Given the description of an element on the screen output the (x, y) to click on. 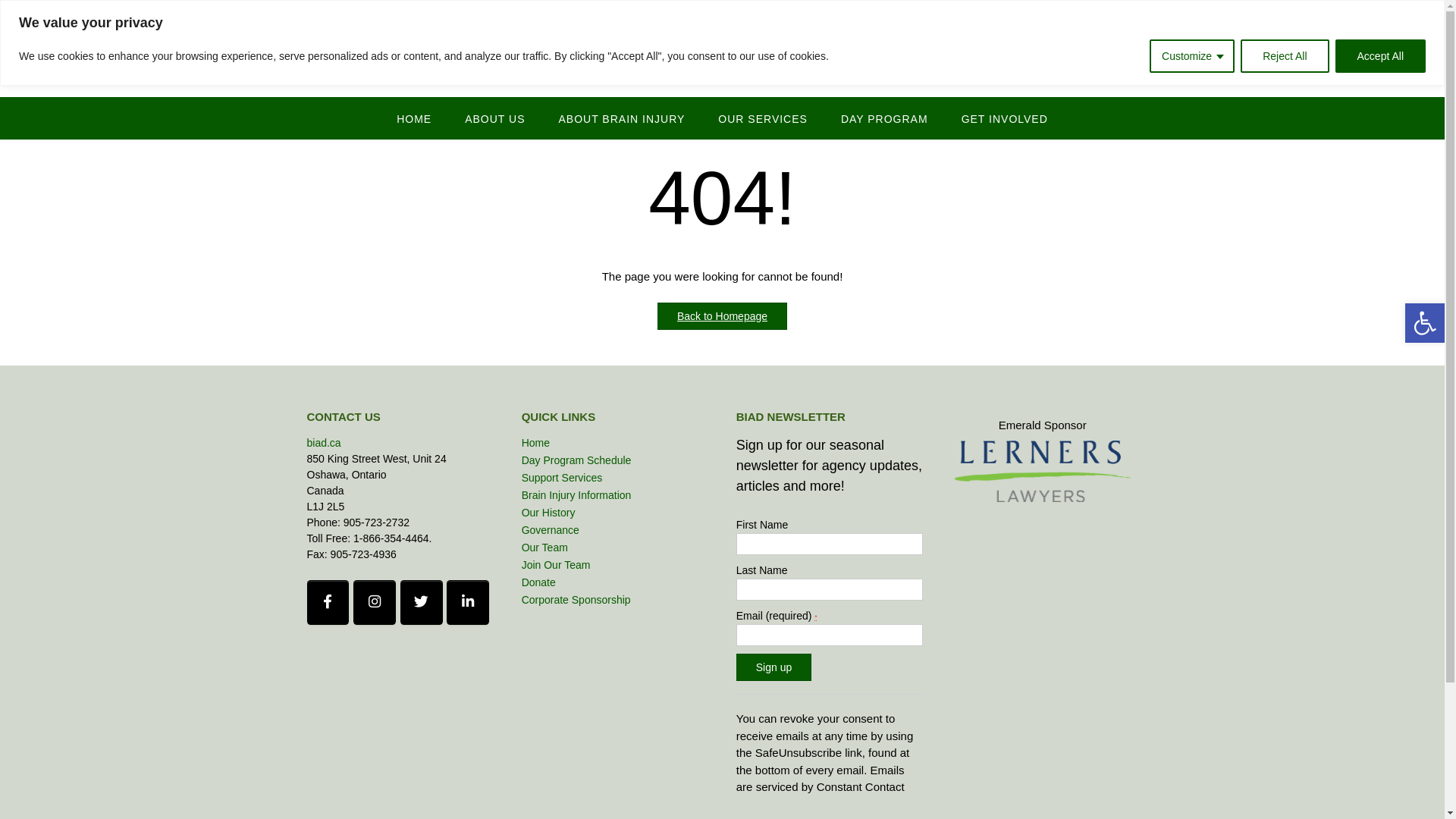
ABOUT US Element type: text (494, 118)
Join Our Team Element type: text (555, 564)
Corporate Sponsorship Element type: text (575, 599)
Brain Injury Association of Durham Region on Twitter Element type: hover (421, 602)
Back to Homepage Element type: text (722, 315)
Our Team Element type: text (544, 547)
DAY PROGRAM Element type: text (884, 118)
ABOUT BRAIN INJURY Element type: text (621, 118)
Donate Element type: text (538, 582)
Open toolbar
Accessibility Tools Element type: text (1424, 322)
Day Program Schedule Element type: text (576, 460)
Governance Element type: text (550, 530)
OUR SERVICES Element type: text (762, 118)
Accept All Element type: text (1380, 55)
Sign up Element type: text (773, 666)
Reject All Element type: text (1284, 55)
Customize Element type: text (1191, 55)
Emerald Sponsor Element type: hover (1042, 471)
Support Services Element type: text (561, 477)
Brain Injury Information Element type: text (576, 495)
HOME Element type: text (413, 118)
Brain Injury Association of Durham Region Element type: text (721, 61)
Brain Injury Association of Durham Region on Facebook Element type: hover (327, 602)
Home Element type: text (535, 442)
Brain Injury Association of Durham Region on Linkedin Element type: hover (467, 602)
Our History Element type: text (548, 512)
Send us an email Element type: hover (1093, 12)
GET INVOLVED Element type: text (1004, 118)
biad.ca Element type: text (323, 442)
Brain Injury Association of Durham Region on Instagram Element type: hover (374, 602)
